Given the description of an element on the screen output the (x, y) to click on. 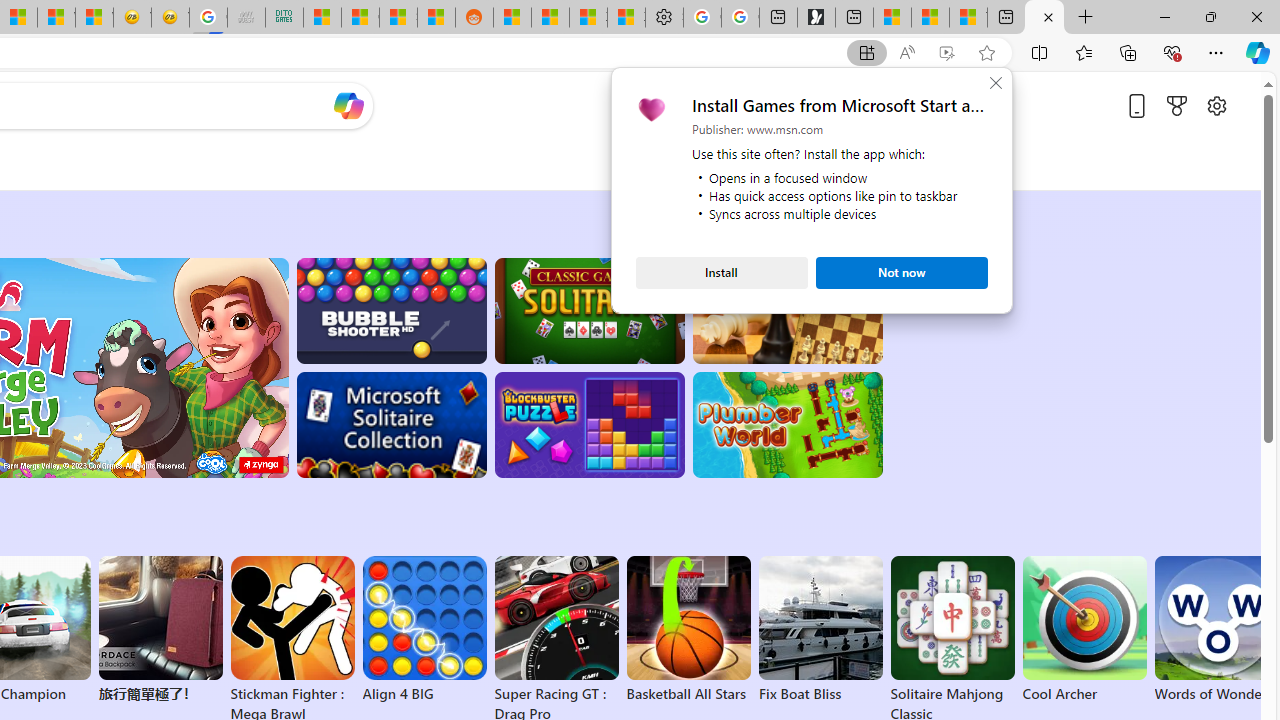
Cool Archer (1083, 629)
Install (721, 272)
Basketball All Stars (688, 629)
